Given the description of an element on the screen output the (x, y) to click on. 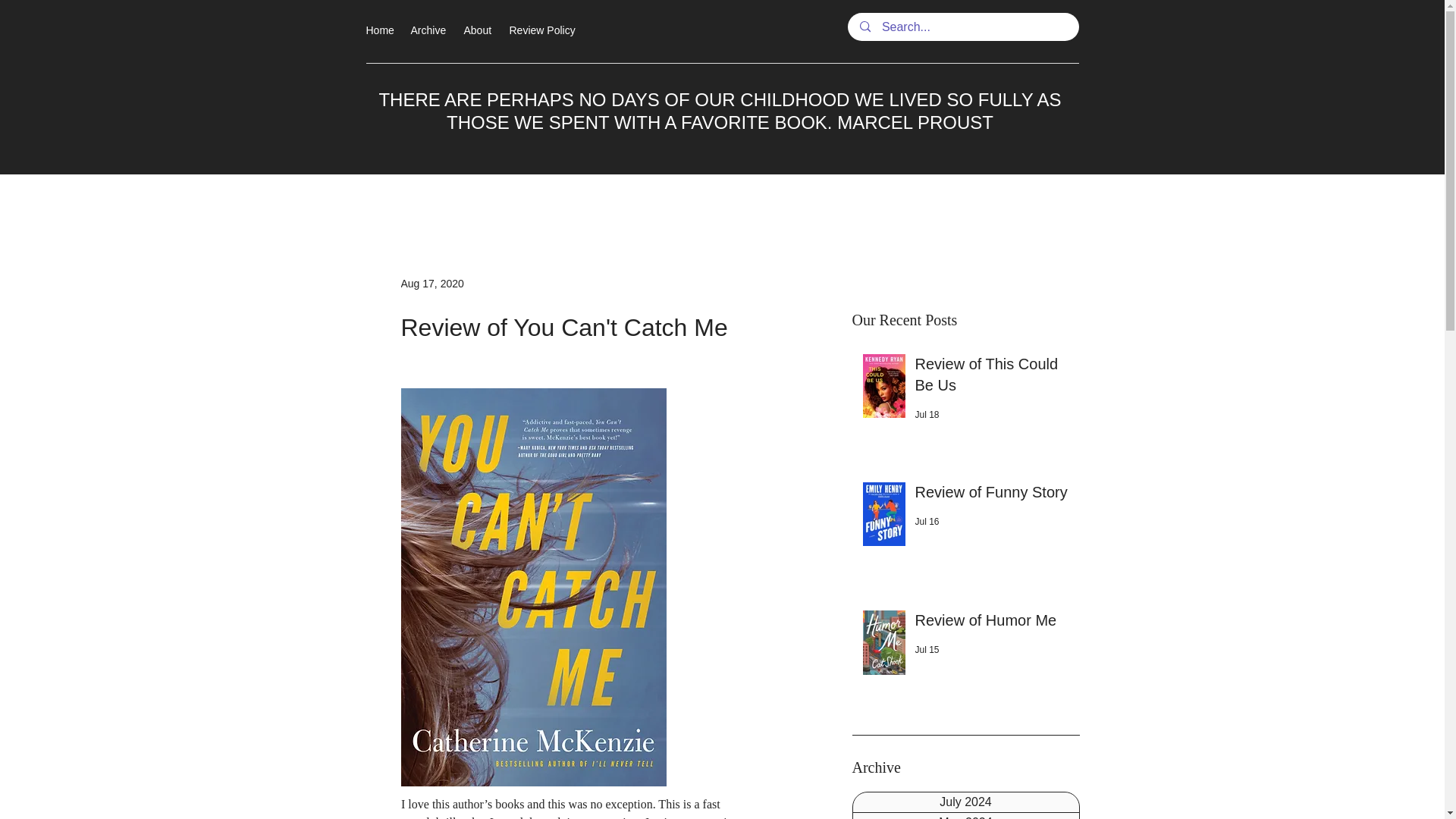
Review of Funny Story (992, 494)
About (479, 29)
Review Policy (543, 29)
Review of Humor Me (992, 623)
Home (380, 29)
Aug 17, 2020 (431, 283)
Review of This Could Be Us (992, 377)
May 2024 (964, 816)
Jul 15 (926, 649)
July 2024 (964, 802)
Archive (430, 29)
Jul 18 (926, 414)
Jul 16 (926, 521)
